Given the description of an element on the screen output the (x, y) to click on. 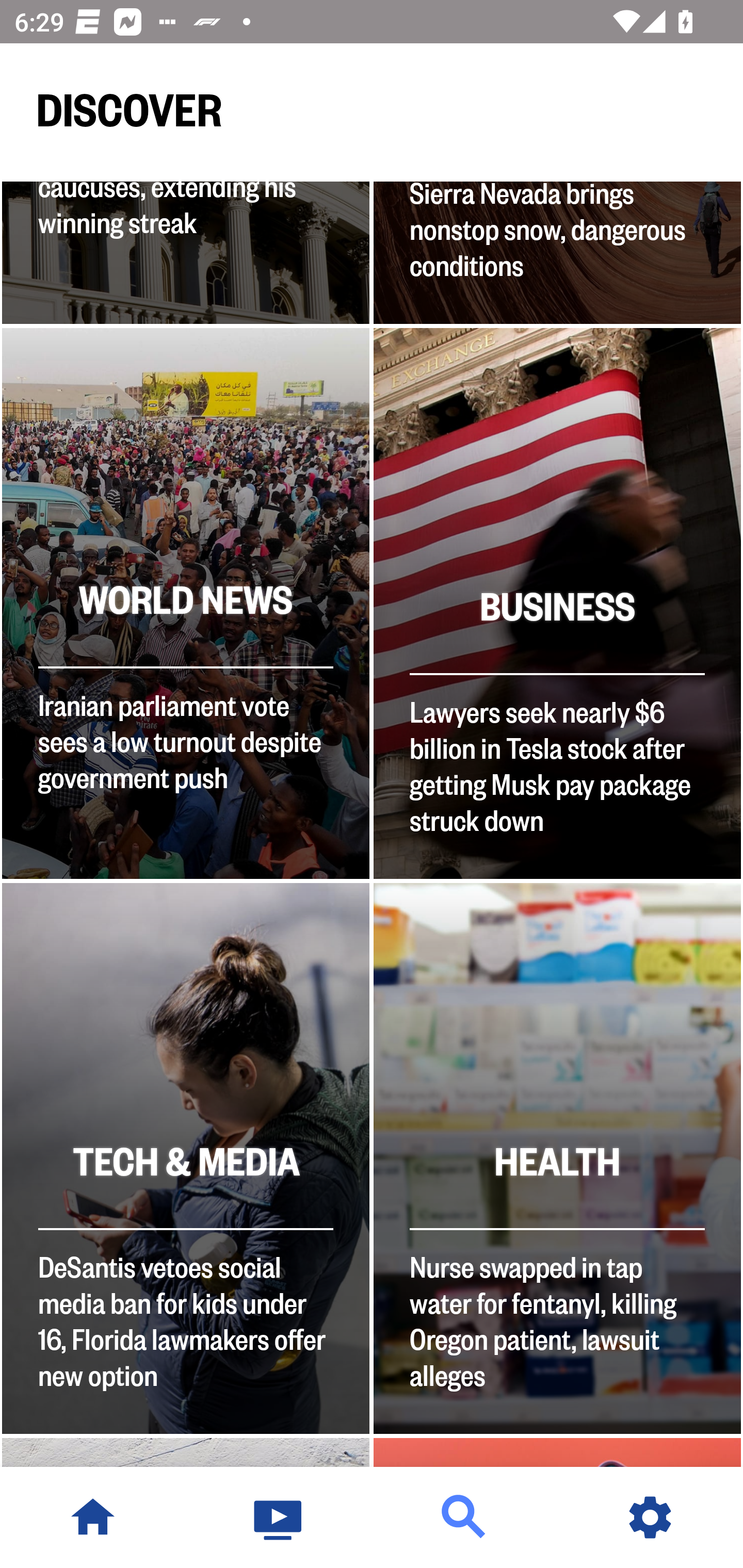
NBC News Home (92, 1517)
Watch (278, 1517)
Settings (650, 1517)
